Given the description of an element on the screen output the (x, y) to click on. 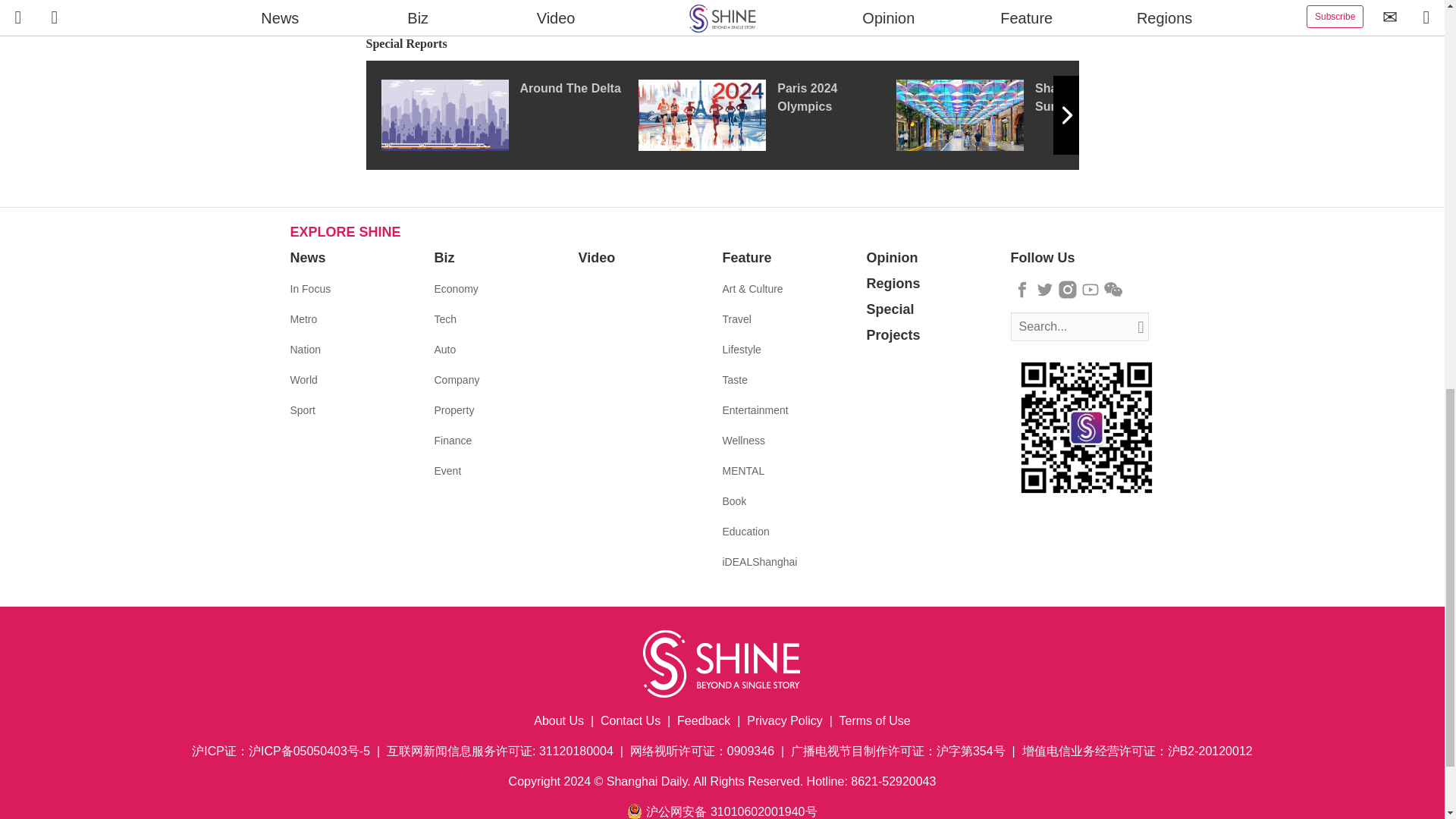
Follow us on Instagram (1067, 289)
Follow us on Facebook (1021, 289)
Shanghai Summer (1024, 114)
Follow us on Twitter (1044, 289)
Follow us on Wechat (1112, 289)
Paris 2024 Olympics (767, 114)
Follow us on Youtube (1090, 289)
News (306, 257)
Around The Delta (508, 114)
Special Reports (721, 44)
